Given the description of an element on the screen output the (x, y) to click on. 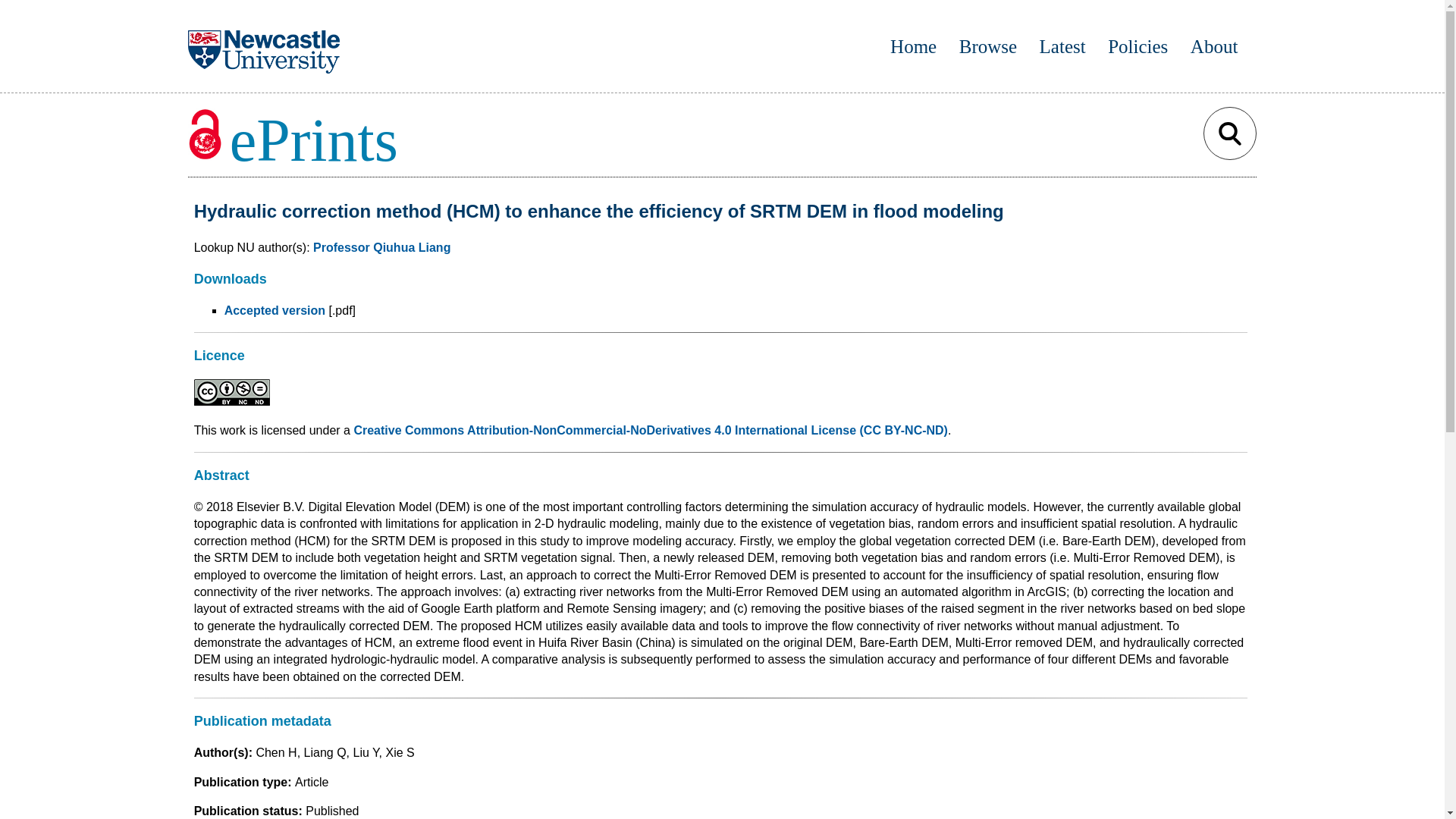
ePrints homepage (912, 46)
Policies (1137, 46)
submit (1230, 133)
submit (1230, 133)
Professor Qiuhua Liang (381, 246)
Browse by author or year (987, 46)
submit (1230, 133)
Newcastle University eprints (292, 140)
Latest (1062, 46)
Accepted version (274, 309)
Browse (987, 46)
View usage policies (1137, 46)
ePrints (292, 140)
Newcastle University eprints (309, 140)
Home (912, 46)
